Given the description of an element on the screen output the (x, y) to click on. 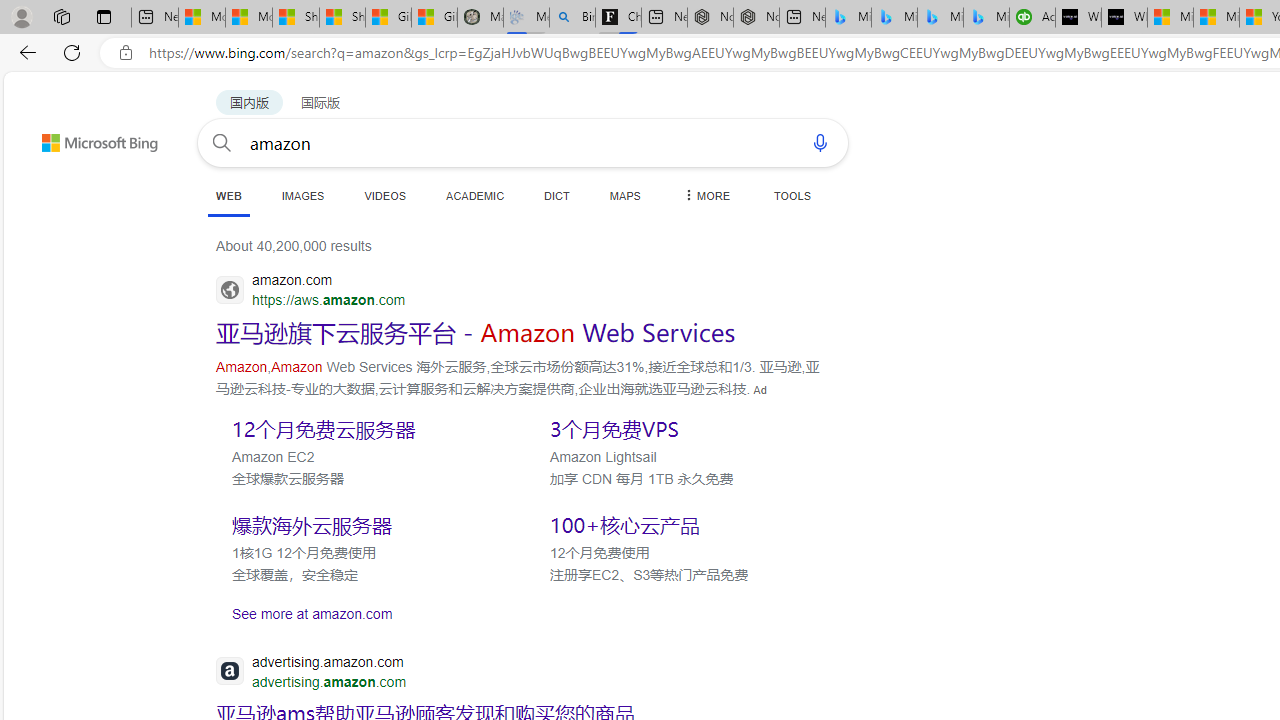
VIDEOS (384, 195)
MAPS (624, 195)
SERP,5547 (476, 331)
Search button (221, 142)
Accounting Software for Accountants, CPAs and Bookkeepers (1031, 17)
DICT (557, 195)
